Given the description of an element on the screen output the (x, y) to click on. 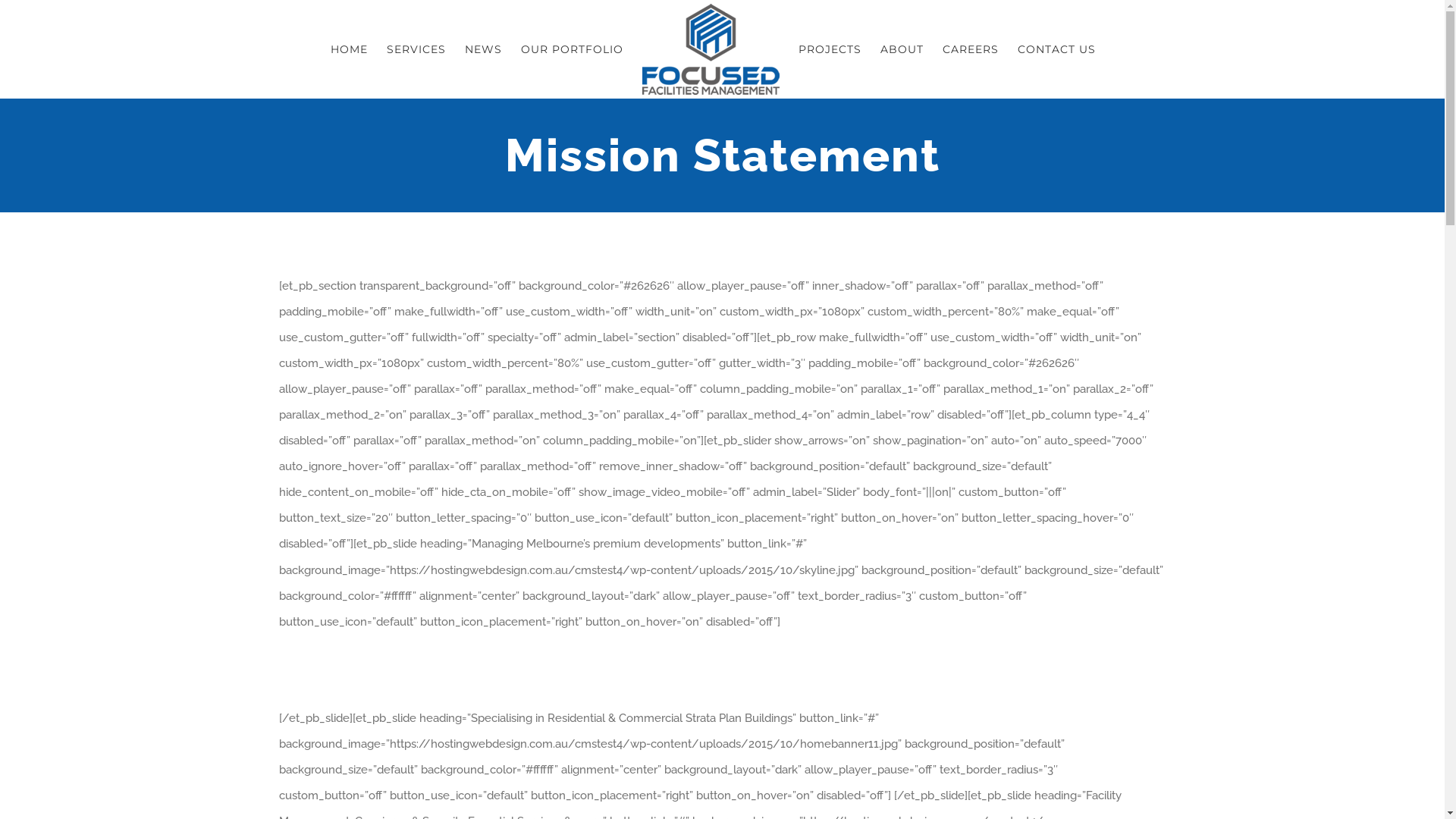
CAREERS Element type: text (969, 49)
ABOUT Element type: text (900, 49)
PROJECTS Element type: text (828, 49)
NEWS Element type: text (482, 49)
OUR PORTFOLIO Element type: text (571, 49)
SERVICES Element type: text (415, 49)
HOME Element type: text (348, 49)
CONTACT US Element type: text (1056, 49)
